Given the description of an element on the screen output the (x, y) to click on. 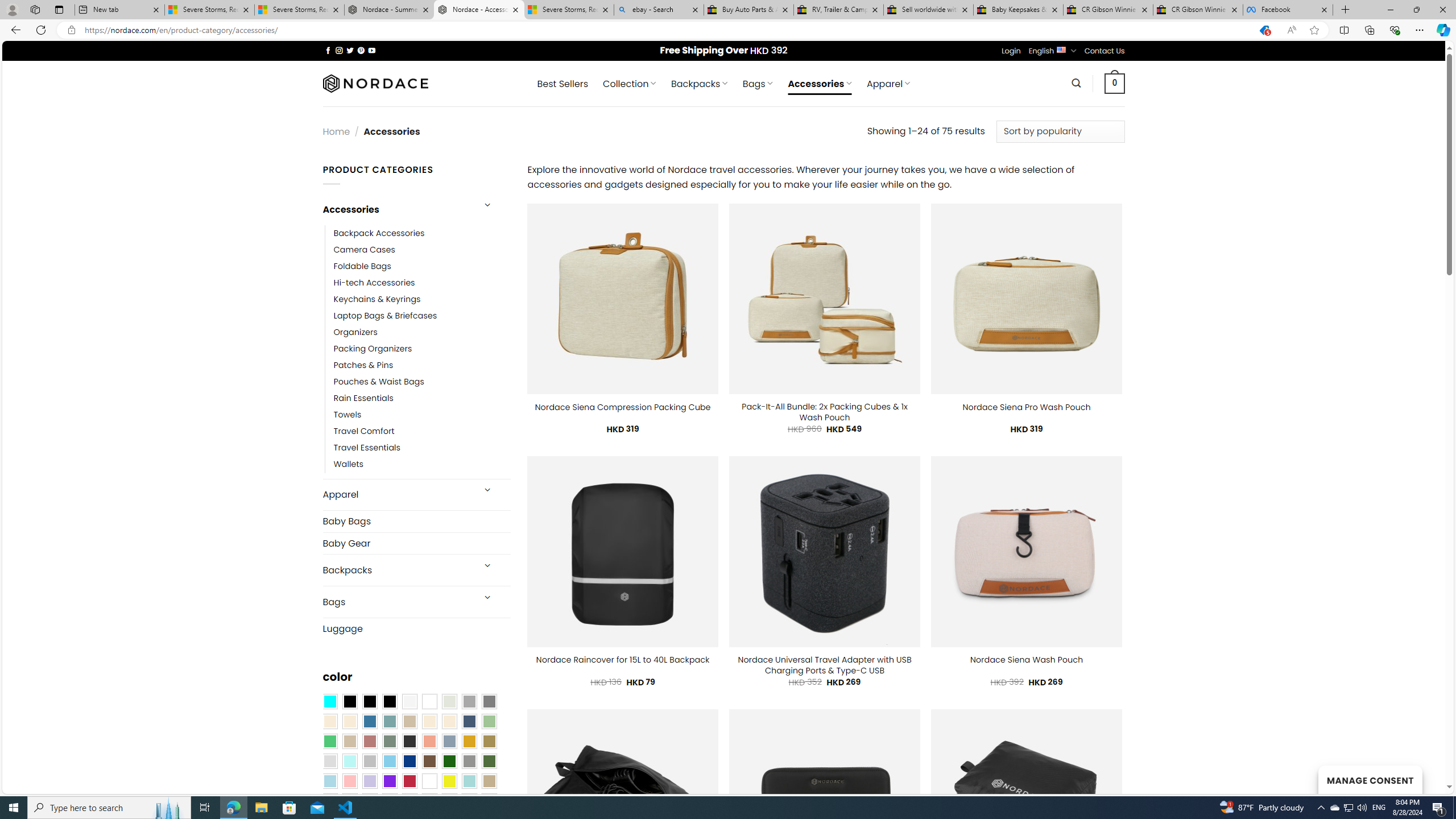
Charcoal (408, 741)
Patches & Pins (363, 365)
Backpack Accessories (379, 232)
Pouches & Waist Bags (422, 381)
Kelp (488, 741)
Travel Comfort (422, 431)
Purple (389, 780)
